Given the description of an element on the screen output the (x, y) to click on. 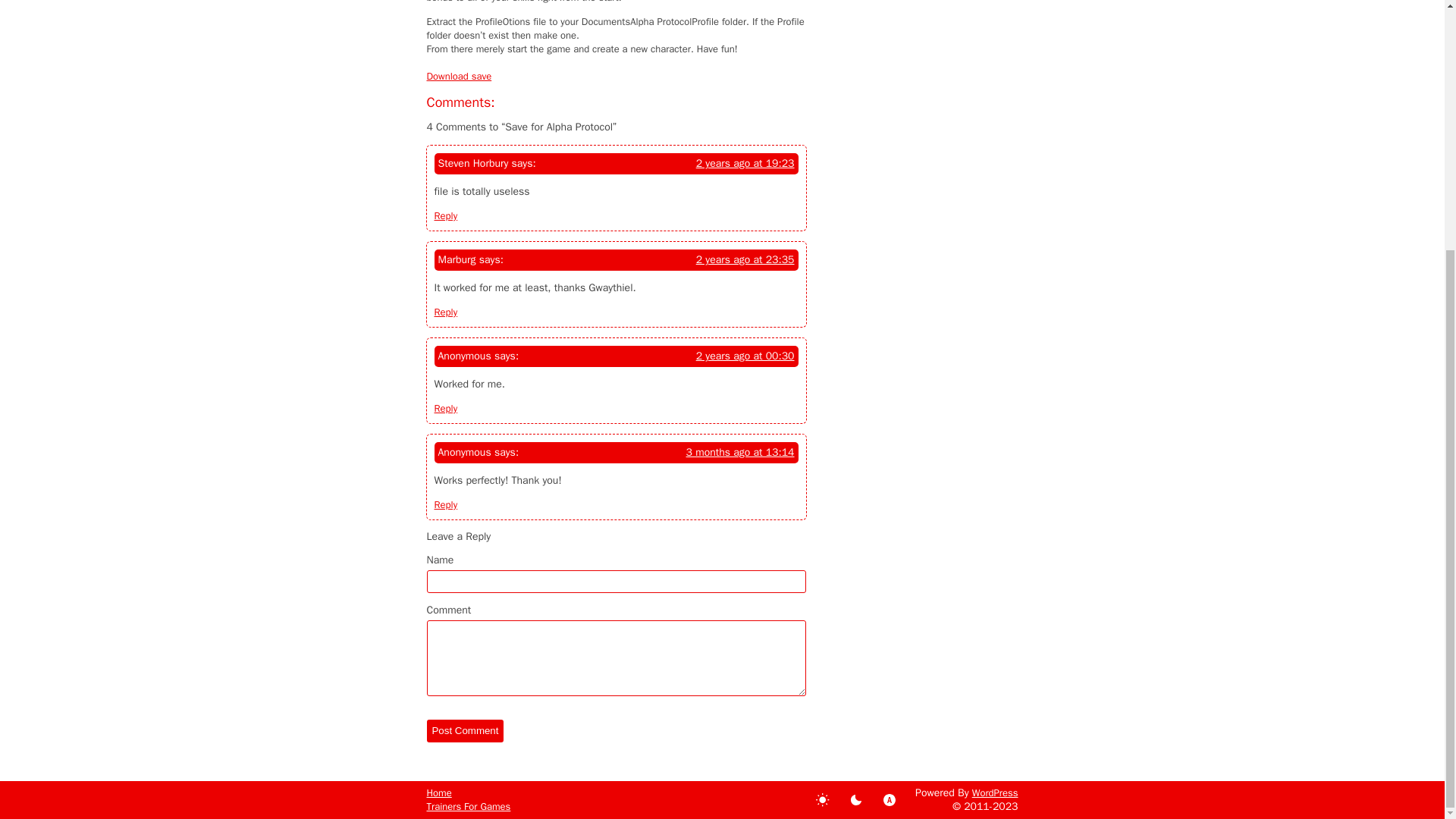
Reply (445, 504)
Download save (459, 75)
2 years ago at 00:30 (744, 356)
Home page (438, 793)
Set dark theme (856, 800)
Reply (445, 215)
Post Comment (464, 730)
Set light theme (822, 800)
2 years ago at 19:23 (744, 163)
3 months ago at 13:14 (739, 452)
